Given the description of an element on the screen output the (x, y) to click on. 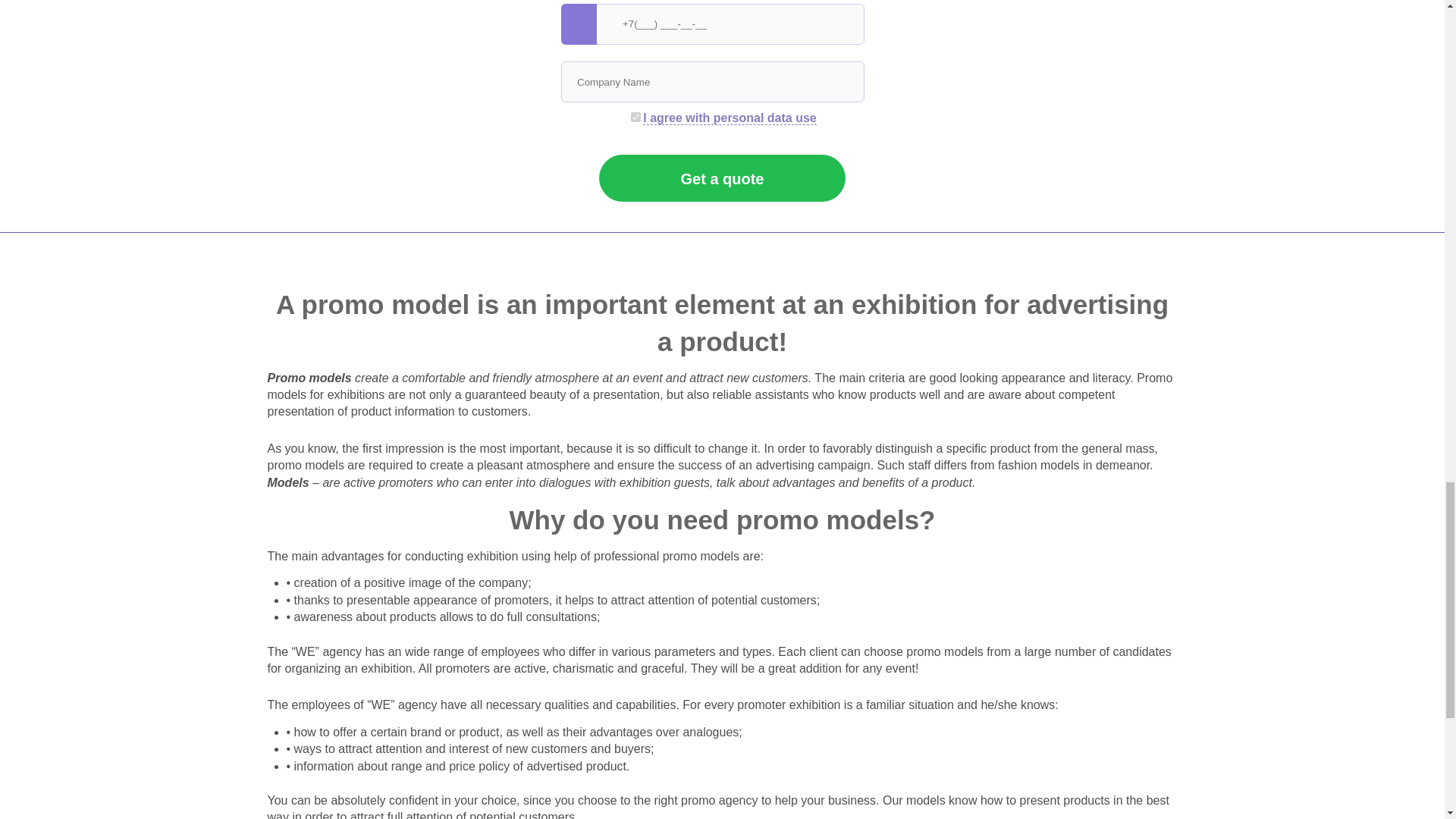
Get a quote (721, 177)
on (635, 117)
Company Name (712, 81)
